Given the description of an element on the screen output the (x, y) to click on. 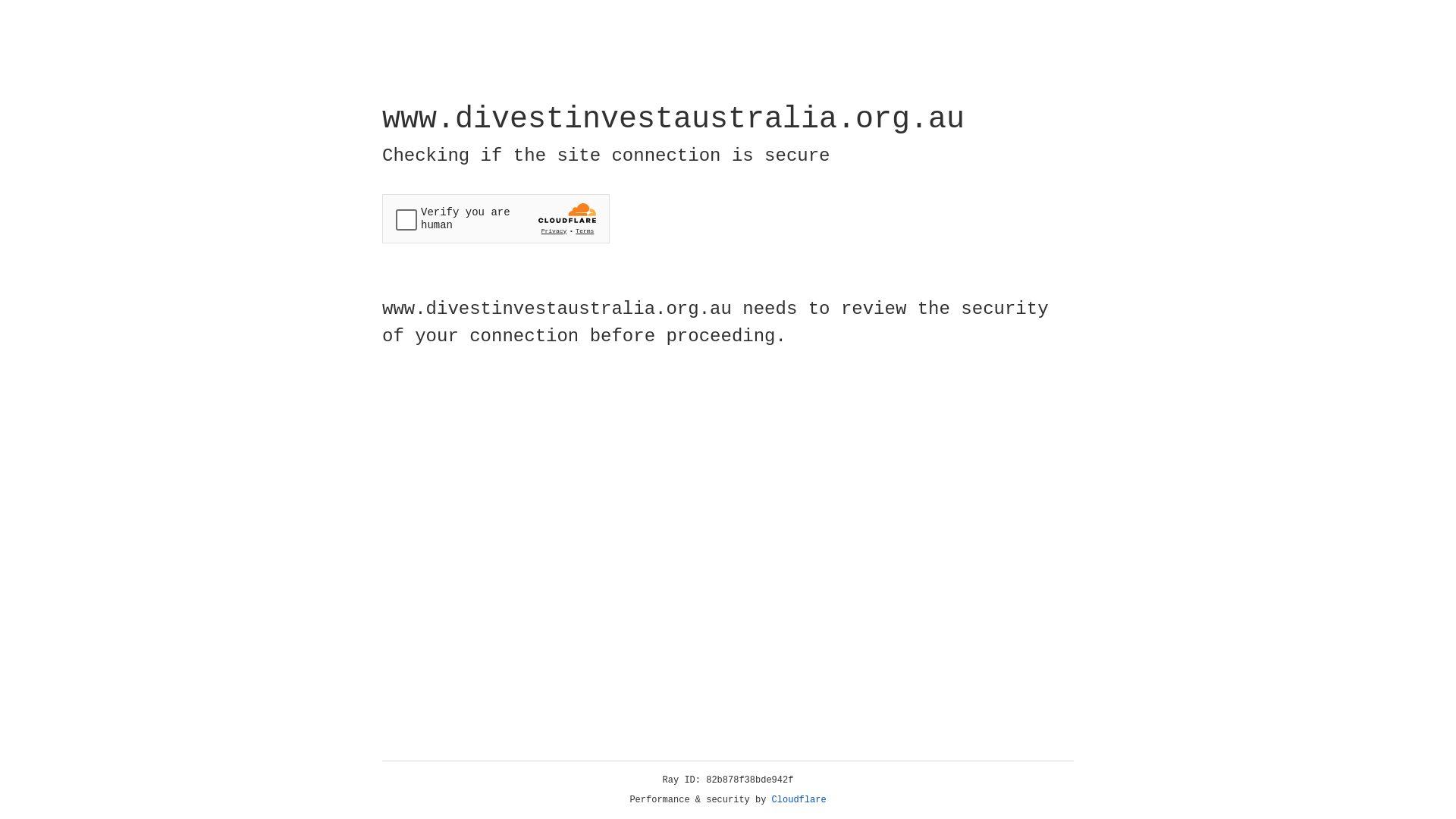
Widget containing a Cloudflare security challenge Element type: hover (495, 218)
Cloudflare Element type: text (798, 799)
